Given the description of an element on the screen output the (x, y) to click on. 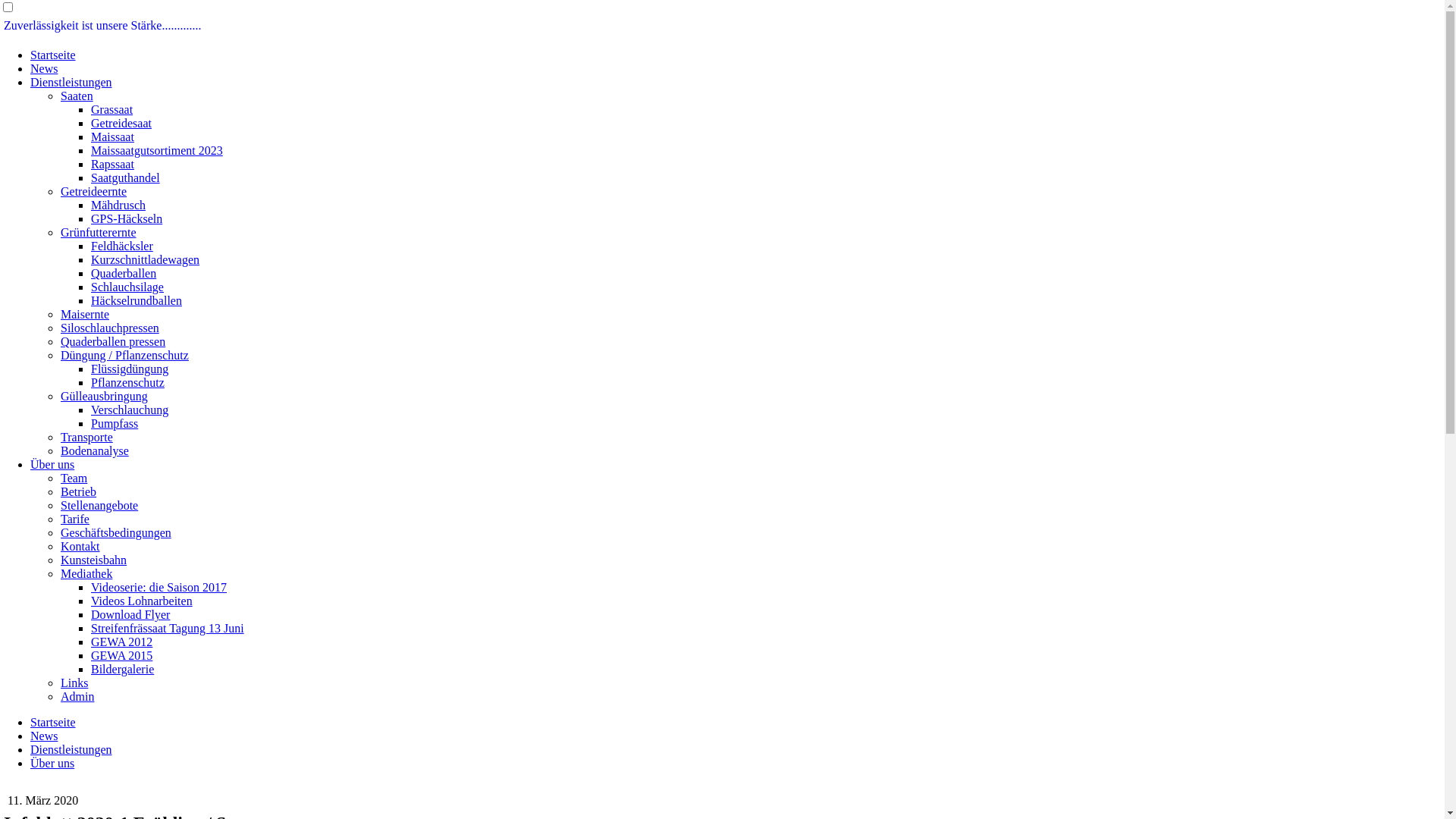
Videoserie: die Saison 2017 Element type: text (158, 586)
GEWA 2015 Element type: text (121, 655)
Download Flyer Element type: text (130, 614)
Grassaat Element type: text (111, 109)
Maissaat Element type: text (112, 136)
Bodenanalyse Element type: text (94, 450)
Startseite Element type: text (52, 54)
News Element type: text (43, 68)
Transporte Element type: text (86, 436)
Mediathek Element type: text (86, 573)
Videos Lohnarbeiten Element type: text (141, 600)
Siloschlauchpressen Element type: text (109, 327)
Kunsteisbahn Element type: text (93, 559)
Stellenangebote Element type: text (99, 504)
Kontakt Element type: text (80, 545)
Dienstleistungen Element type: text (71, 749)
Rapssaat Element type: text (112, 163)
Quaderballen Element type: text (123, 272)
Getreideernte Element type: text (93, 191)
GEWA 2012 Element type: text (121, 641)
Verschlauchung Element type: text (129, 409)
Getreidesaat Element type: text (121, 122)
Startseite Element type: text (52, 721)
Admin Element type: text (77, 696)
Team Element type: text (73, 477)
Saaten Element type: text (76, 95)
Links Element type: text (73, 682)
Pflanzenschutz Element type: text (127, 382)
Quaderballen pressen Element type: text (112, 341)
Tarife Element type: text (74, 518)
Dienstleistungen Element type: text (71, 81)
Pumpfass Element type: text (114, 423)
News Element type: text (43, 735)
Maisernte Element type: text (84, 313)
Betrieb Element type: text (78, 491)
Saatguthandel Element type: text (125, 177)
Kurzschnittladewagen Element type: text (145, 259)
Bildergalerie Element type: text (122, 668)
Schlauchsilage Element type: text (127, 286)
Maissaatgutsortiment 2023 Element type: text (156, 150)
